Given the description of an element on the screen output the (x, y) to click on. 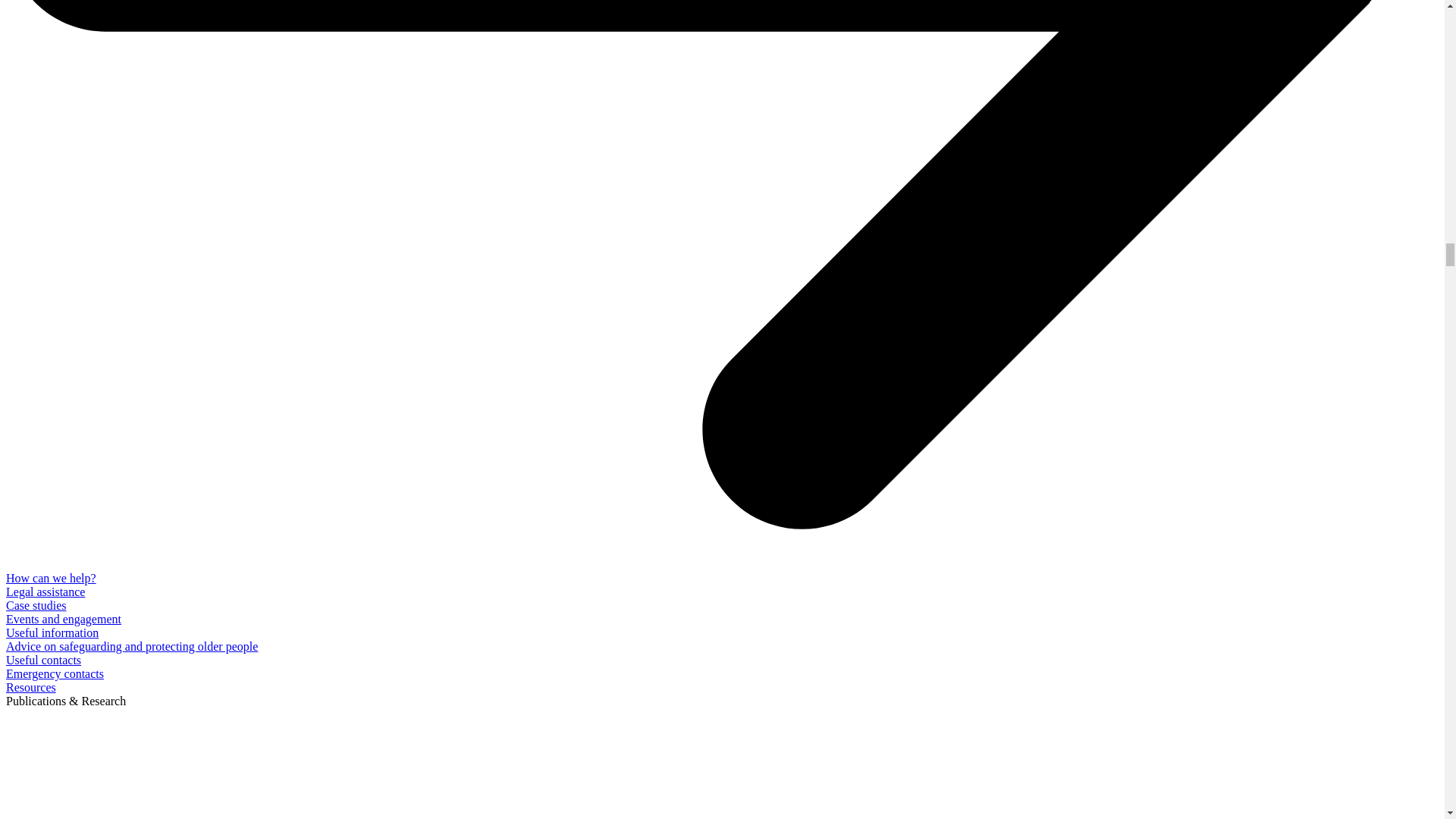
Advice on safeguarding and protecting older people (131, 645)
Useful information (52, 632)
Emergency contacts (54, 673)
How can we help? (50, 577)
Events and engagement (62, 618)
Resources (30, 686)
Legal assistance (44, 591)
Case studies (35, 604)
Useful contacts (43, 659)
